Given the description of an element on the screen output the (x, y) to click on. 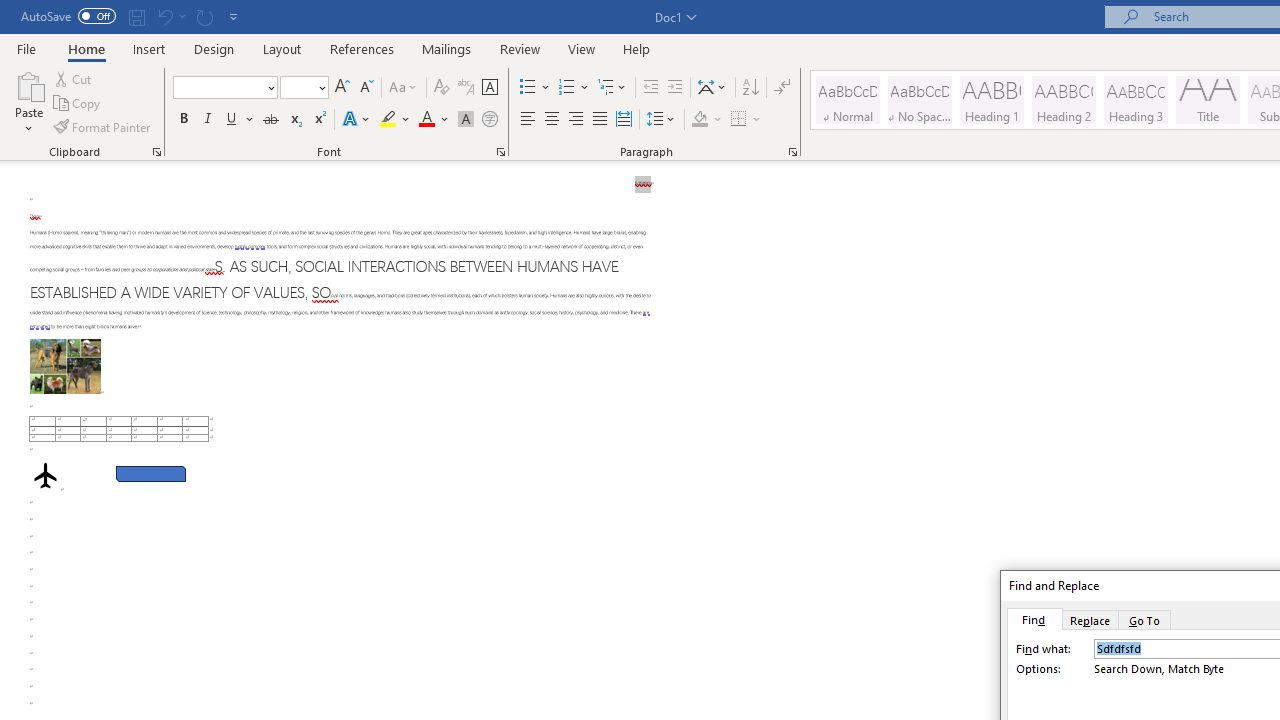
Rectangle: Diagonal Corners Snipped 2 (150, 473)
Go To (1145, 619)
Font Color Red (426, 119)
Undo Paragraph Alignment (164, 15)
Replace (1089, 619)
Heading 1 (991, 100)
Heading 2 (1063, 100)
